Given the description of an element on the screen output the (x, y) to click on. 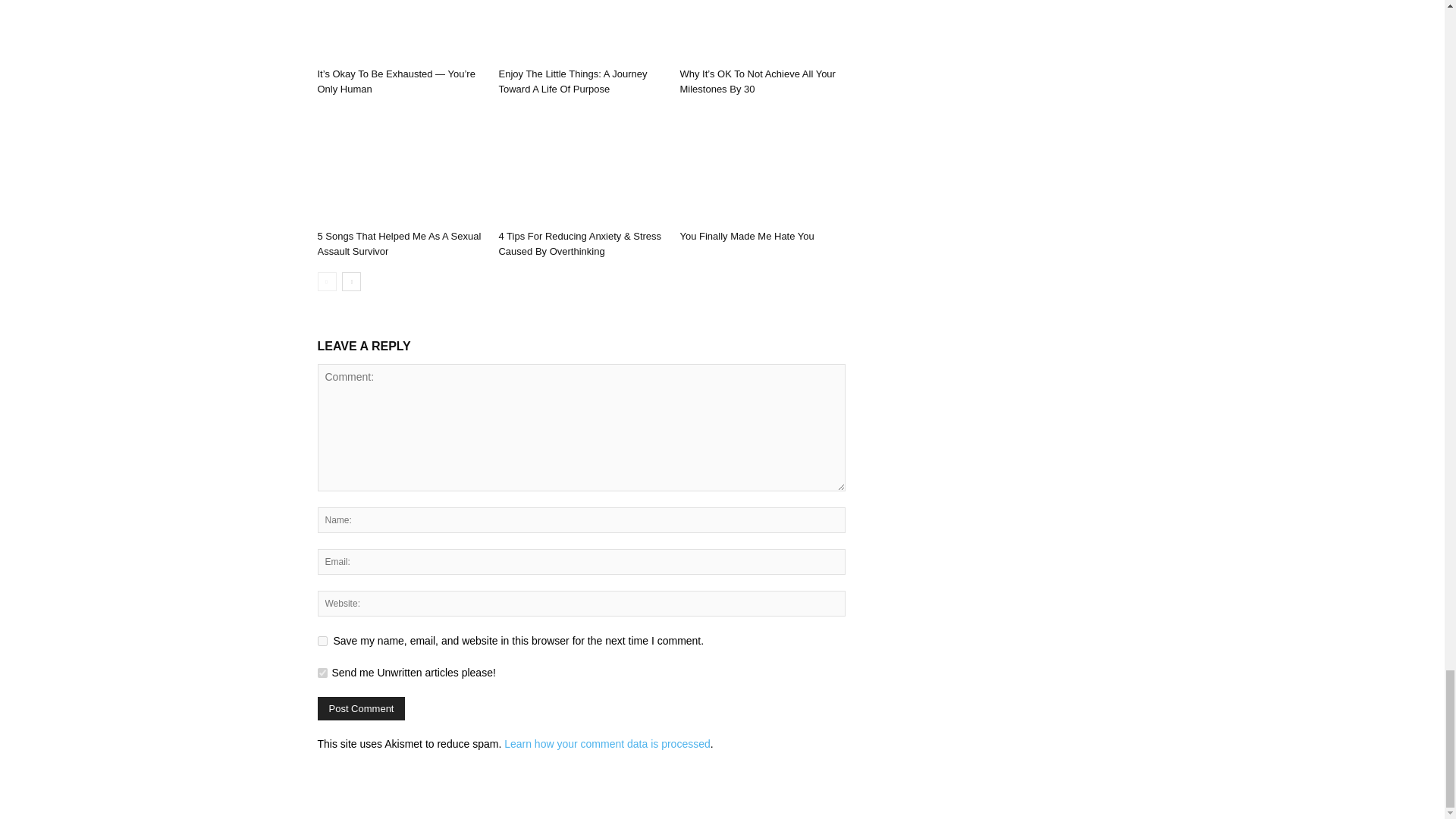
Post Comment (360, 708)
yes (321, 641)
1 (321, 673)
